Given the description of an element on the screen output the (x, y) to click on. 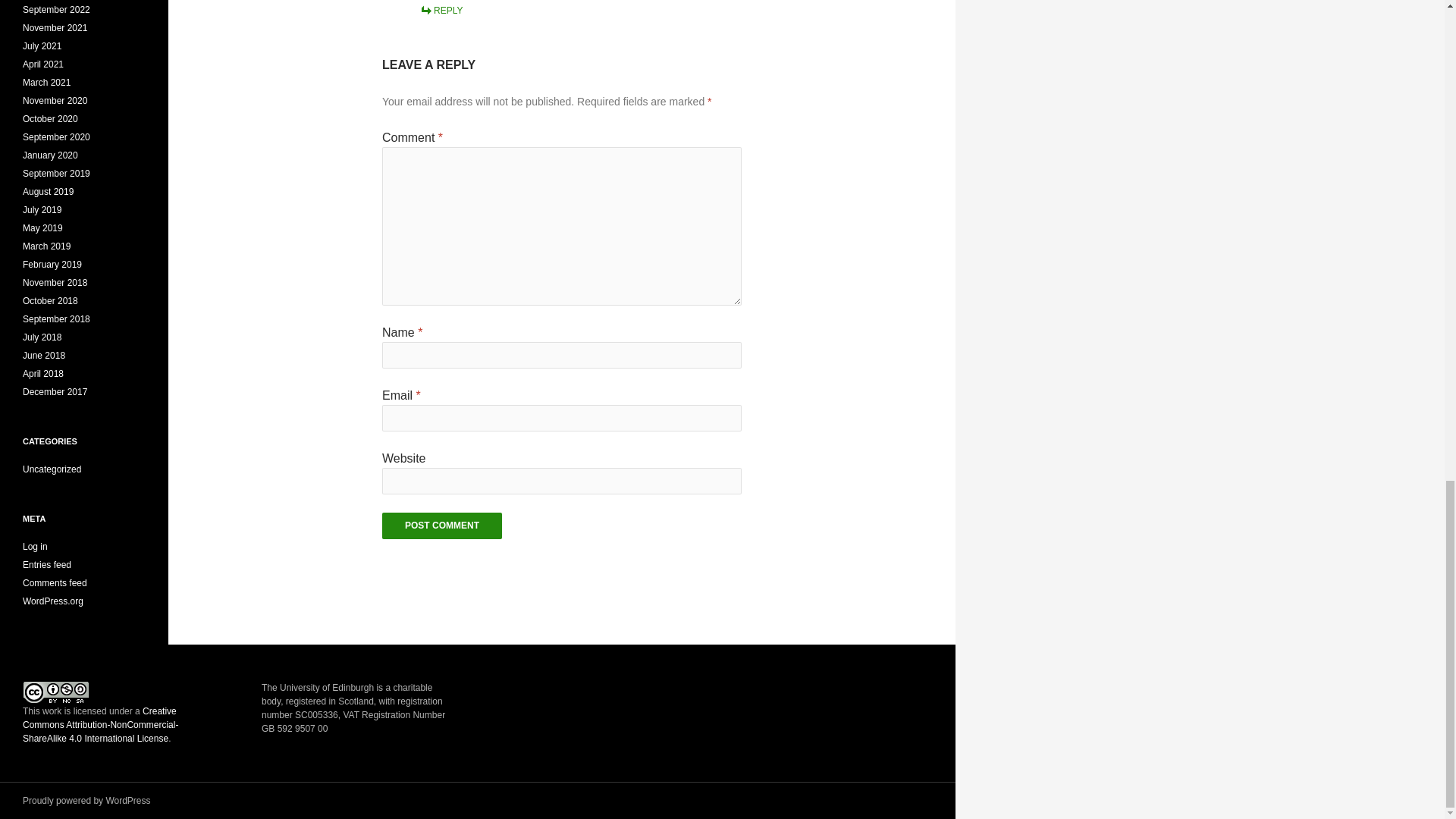
Post Comment (441, 525)
REPLY (441, 9)
Post Comment (441, 525)
